Given the description of an element on the screen output the (x, y) to click on. 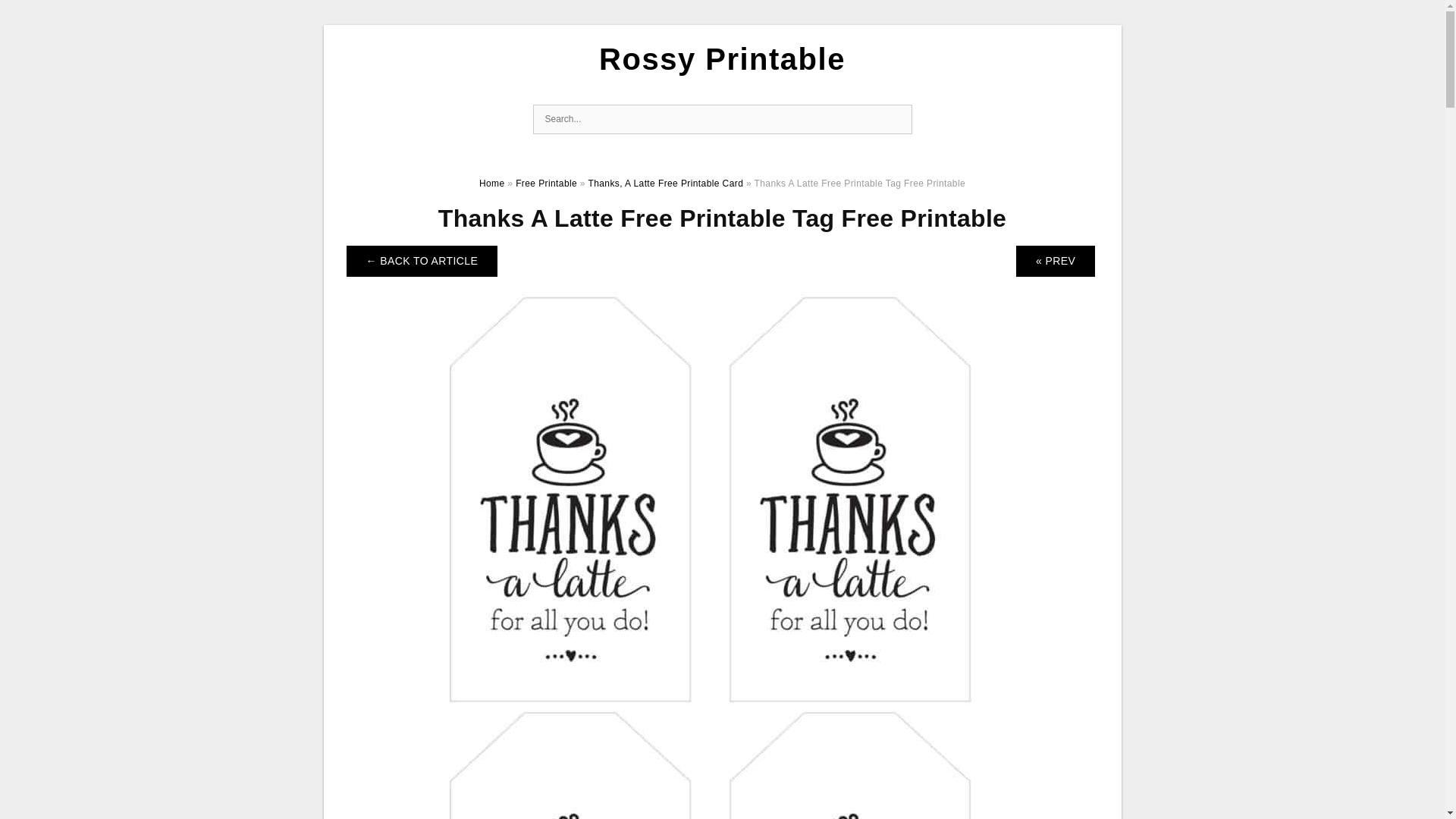
Thanks, A Latte Free Printable Card (665, 183)
Thanks A Latte Free Printable Tag Free Printable (722, 739)
Return to Thanks, A Latte Free Printable Card (421, 260)
Search (895, 119)
Free Printable (545, 183)
Search (895, 119)
Search for: (721, 119)
Rossy Printable (721, 59)
Home (492, 183)
